Given the description of an element on the screen output the (x, y) to click on. 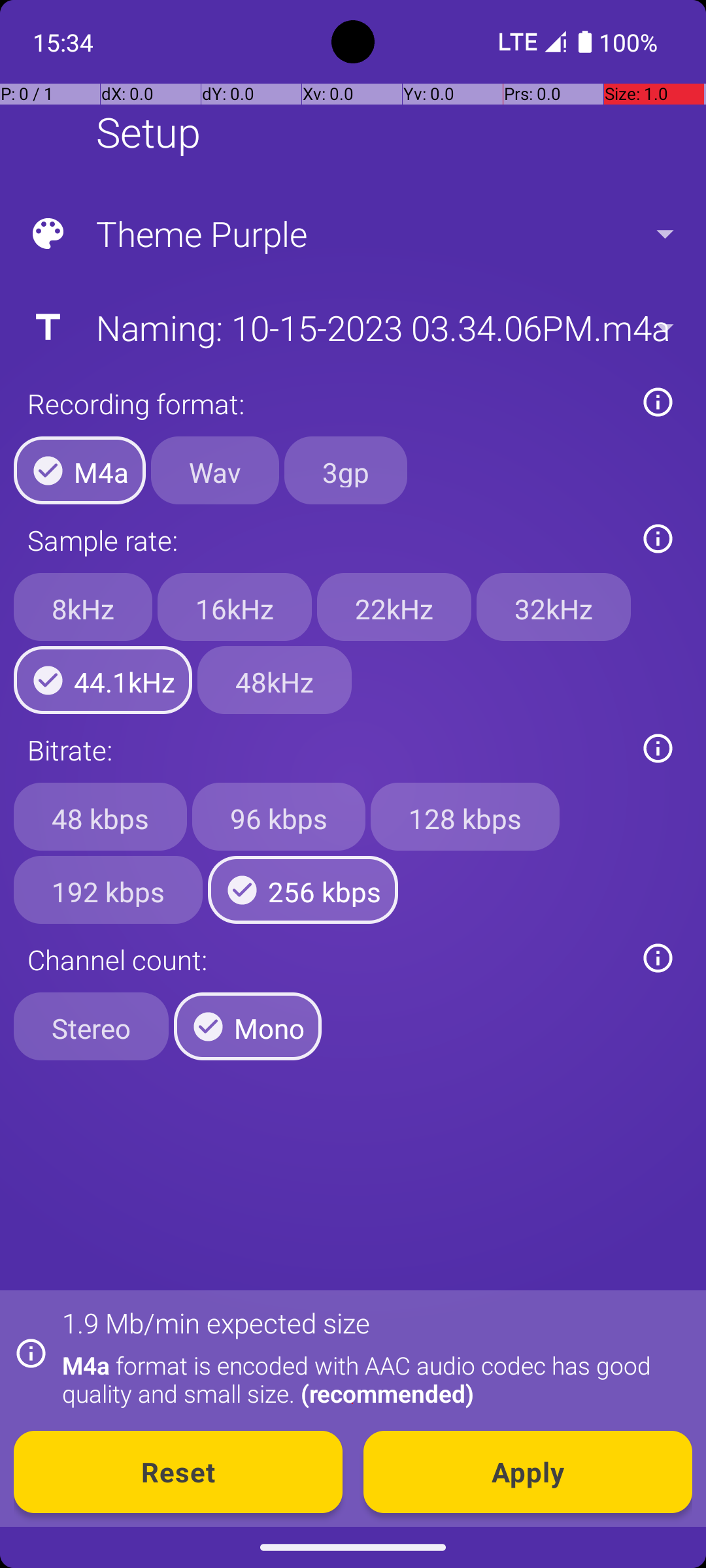
1.9 Mb/min expected size Element type: android.widget.TextView (215, 1322)
Theme Purple Element type: android.widget.TextView (352, 233)
Naming: 10-15-2023 03.34.06PM.m4a Element type: android.widget.TextView (352, 327)
